Given the description of an element on the screen output the (x, y) to click on. 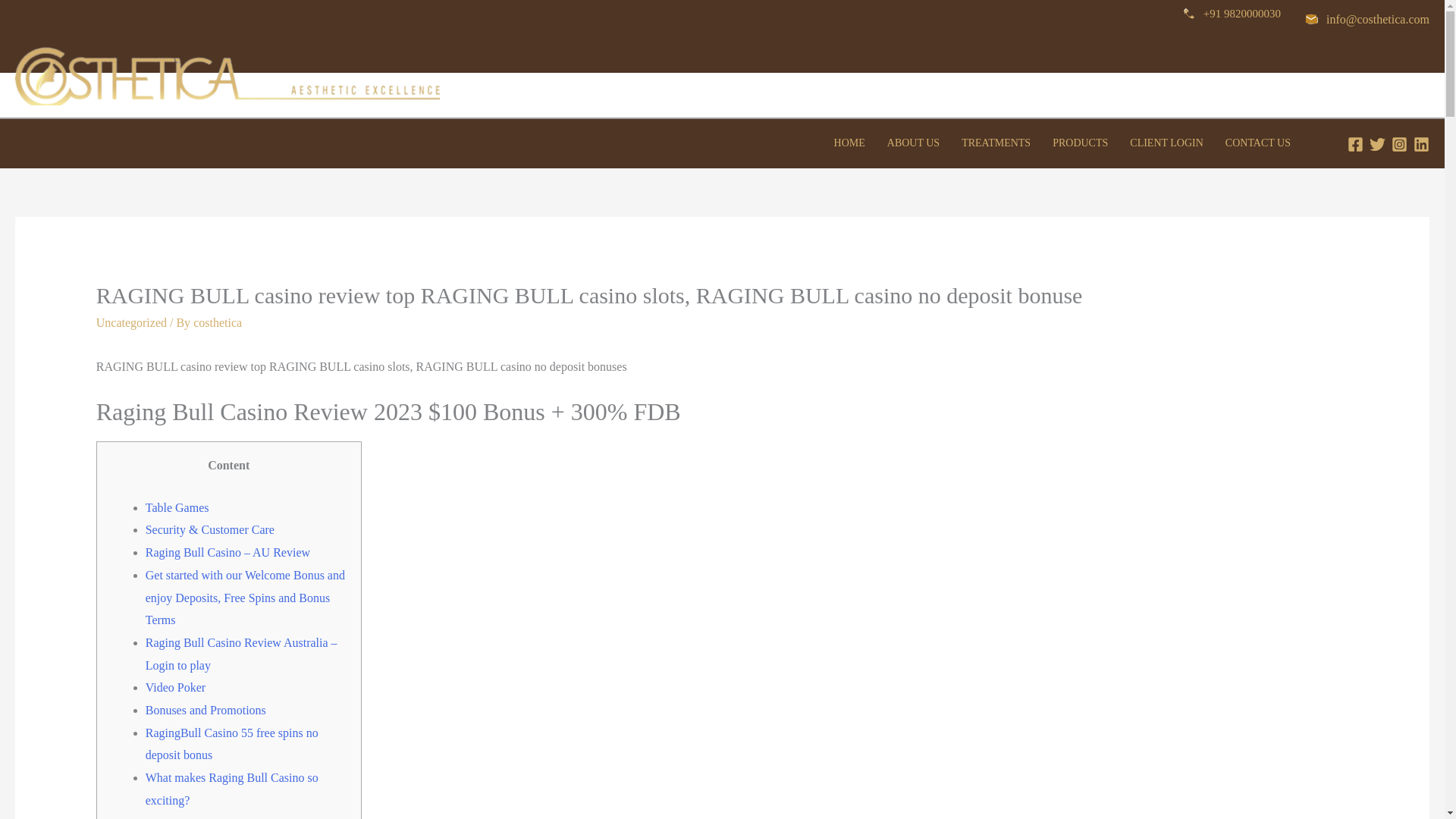
RagingBull Casino 55 free spins no deposit bonus (231, 744)
Table Games (177, 507)
Video Poker (175, 686)
Bonuses and Promotions (205, 709)
ABOUT US (913, 148)
costhetica (217, 322)
View all posts by costhetica (217, 322)
Uncategorized (131, 322)
CONTACT US (1257, 148)
What makes Raging Bull Casino so exciting? (231, 788)
TREATMENTS (996, 148)
CLIENT LOGIN (1166, 148)
PRODUCTS (1080, 148)
HOME (850, 148)
